Given the description of an element on the screen output the (x, y) to click on. 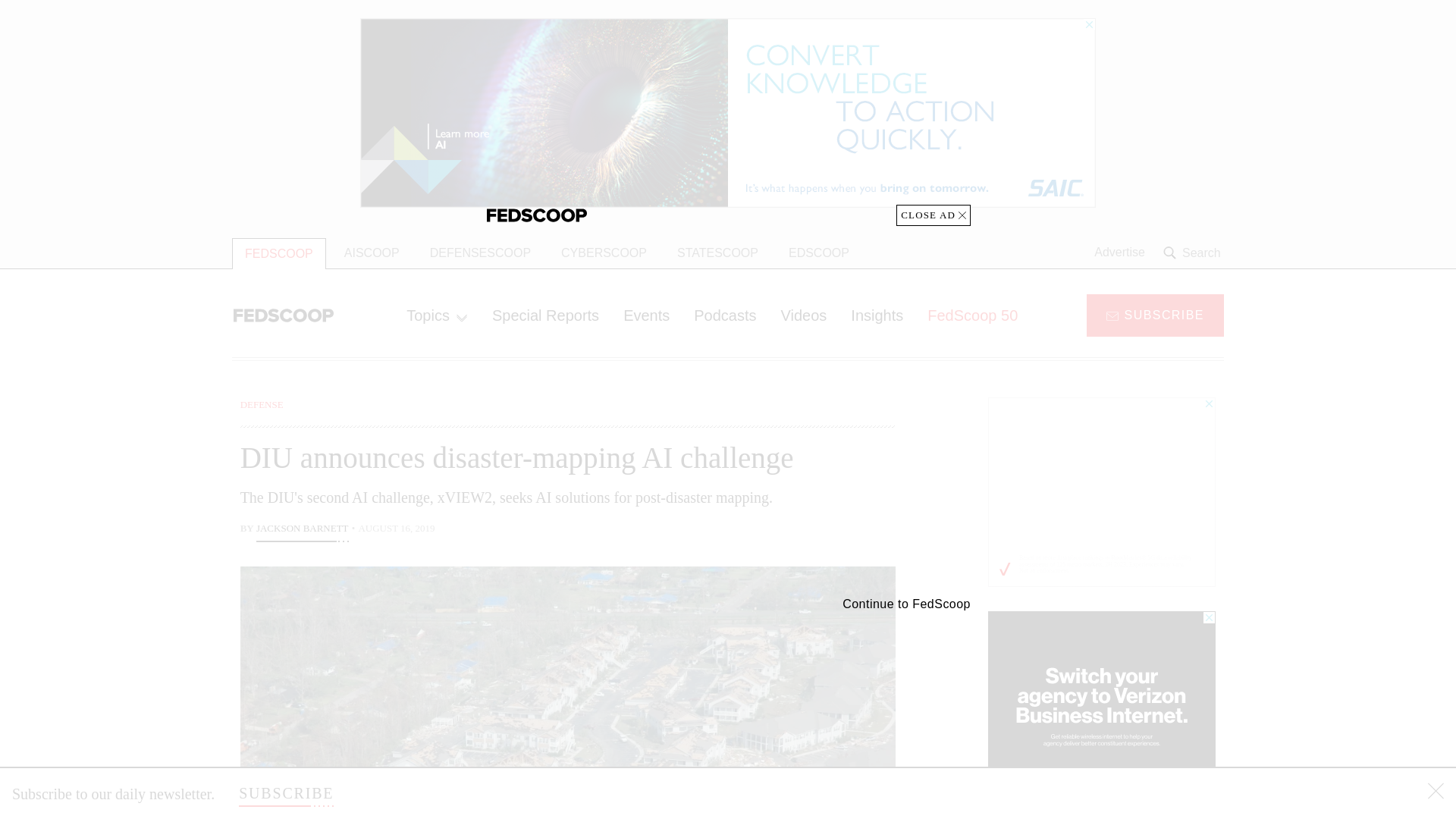
SUBSCRIBE (285, 793)
STATESCOOP (717, 253)
JACKSON BARNETT (302, 529)
Jackson Barnett (302, 529)
FedScoop 50 (972, 315)
AISCOOP (371, 253)
DEFENSE (261, 404)
Search (1193, 252)
